Given the description of an element on the screen output the (x, y) to click on. 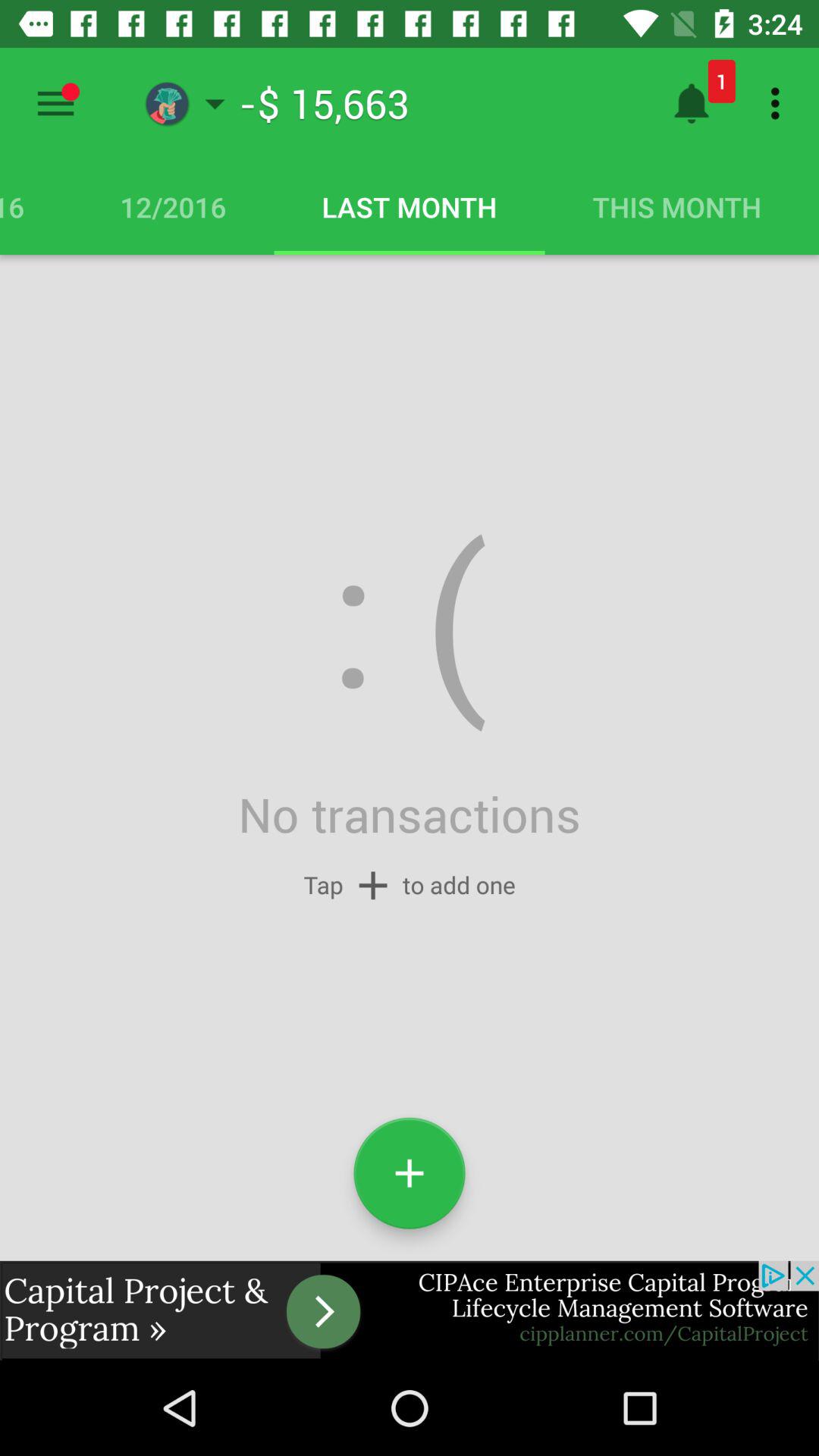
advertisement banner (409, 1310)
